Given the description of an element on the screen output the (x, y) to click on. 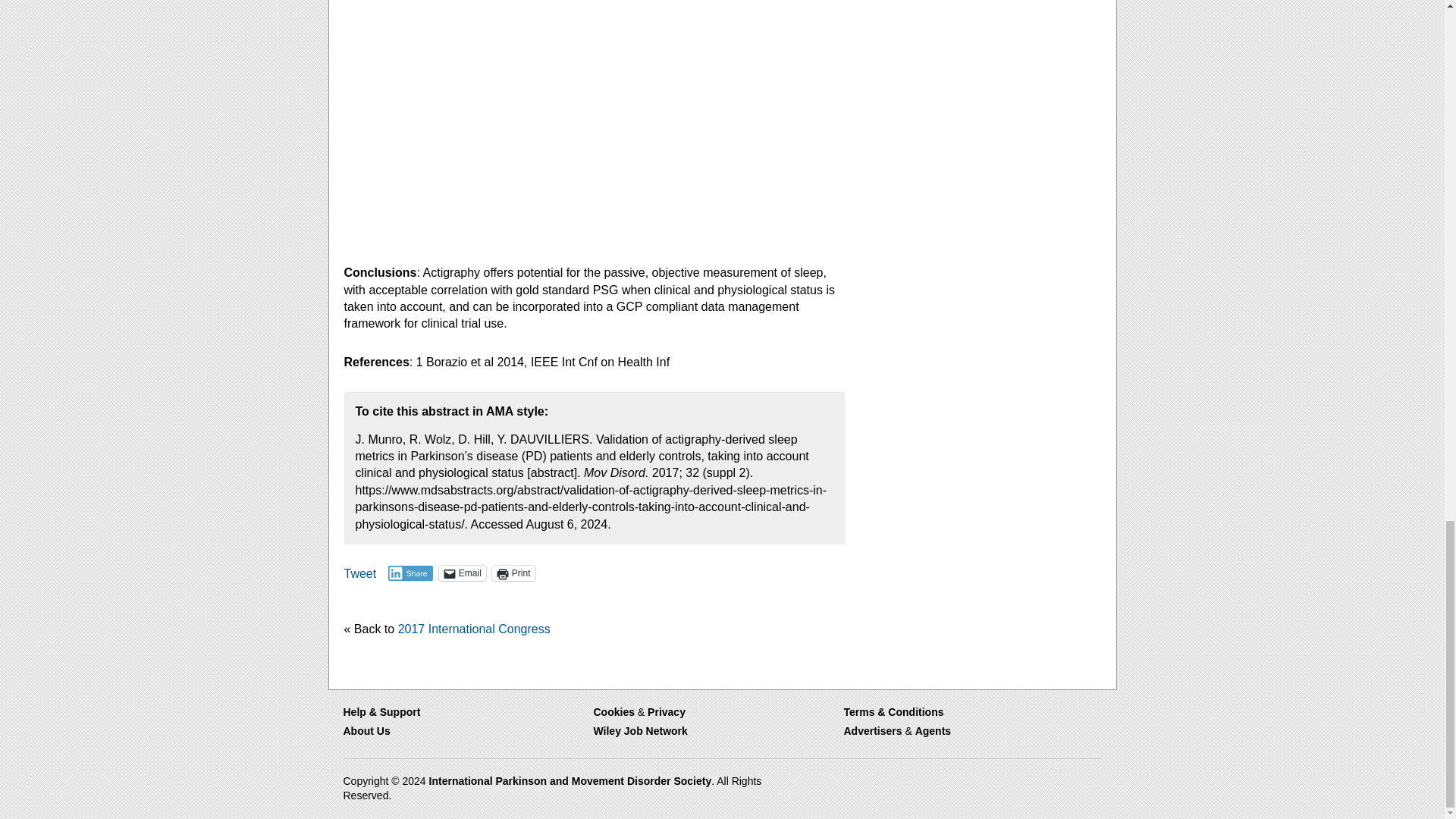
Privacy (666, 711)
Wiley Job Network (639, 730)
Click to print (513, 572)
Click to email a link to a friend (462, 572)
Cookies (612, 711)
About Us (366, 730)
Tweet (360, 572)
Share (410, 572)
Print (513, 572)
2017 International Congress (473, 628)
